Given the description of an element on the screen output the (x, y) to click on. 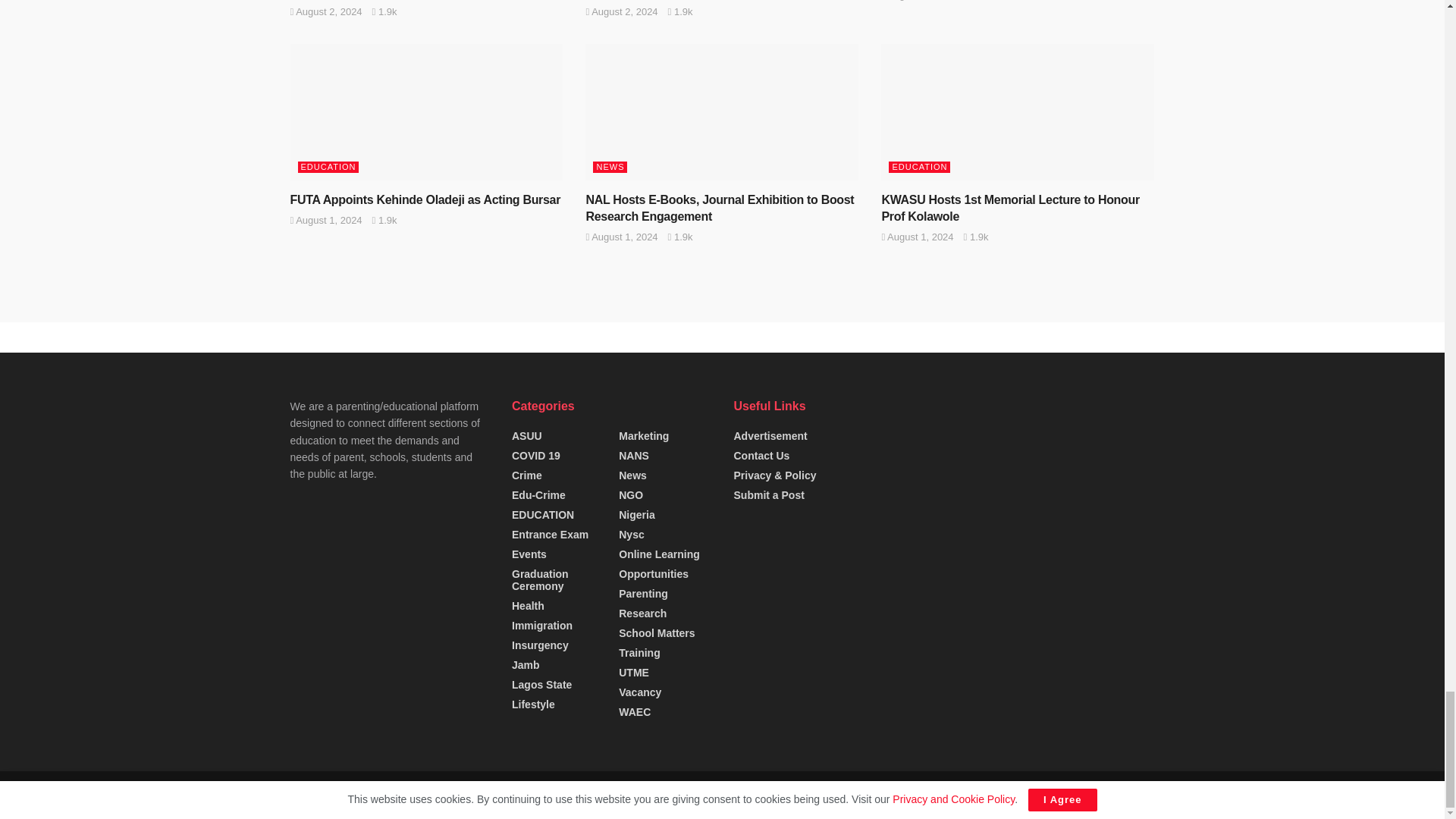
Education  (565, 794)
Education  (437, 794)
